Given the description of an element on the screen output the (x, y) to click on. 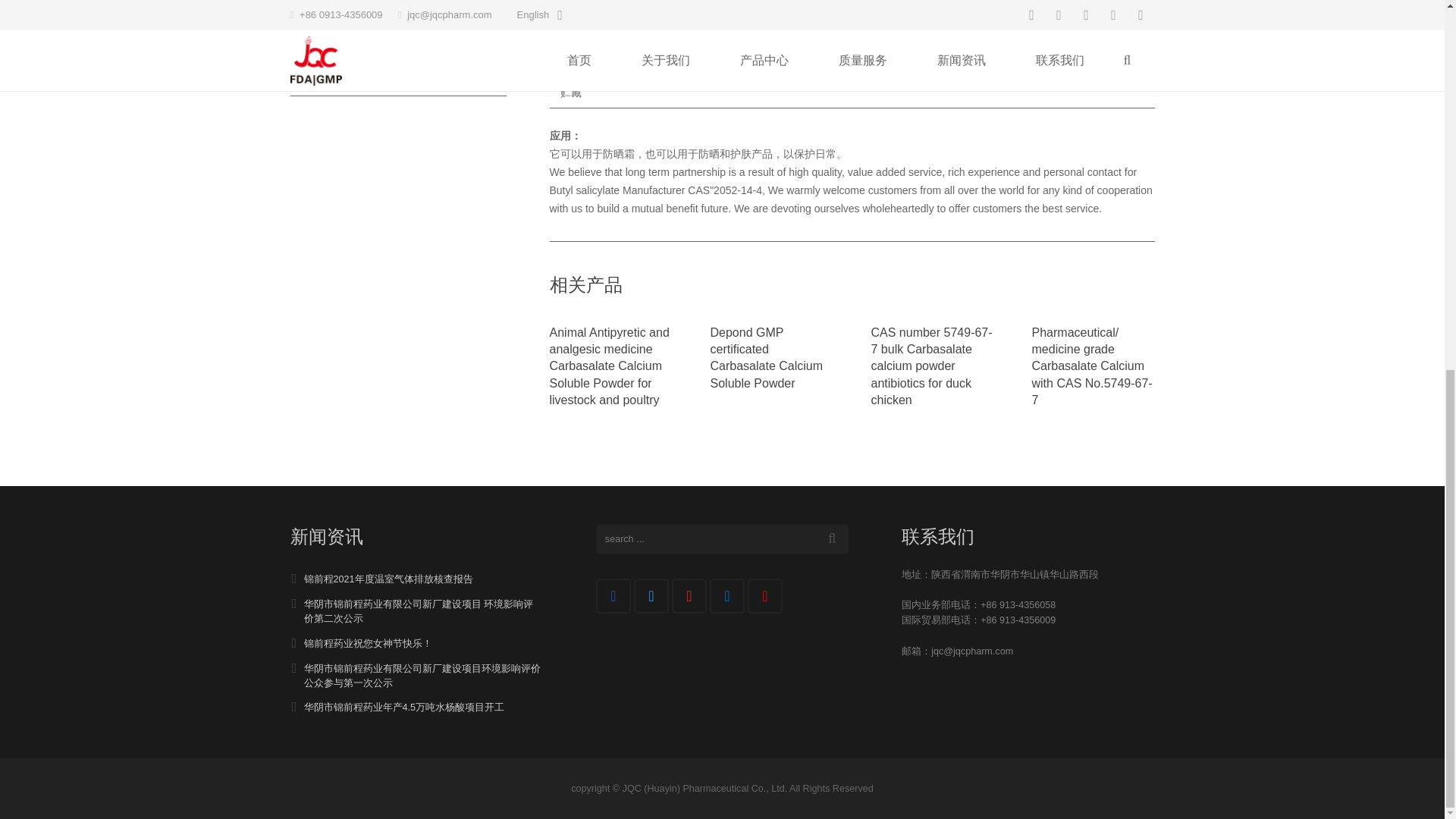
Back to top (1413, 171)
